Given the description of an element on the screen output the (x, y) to click on. 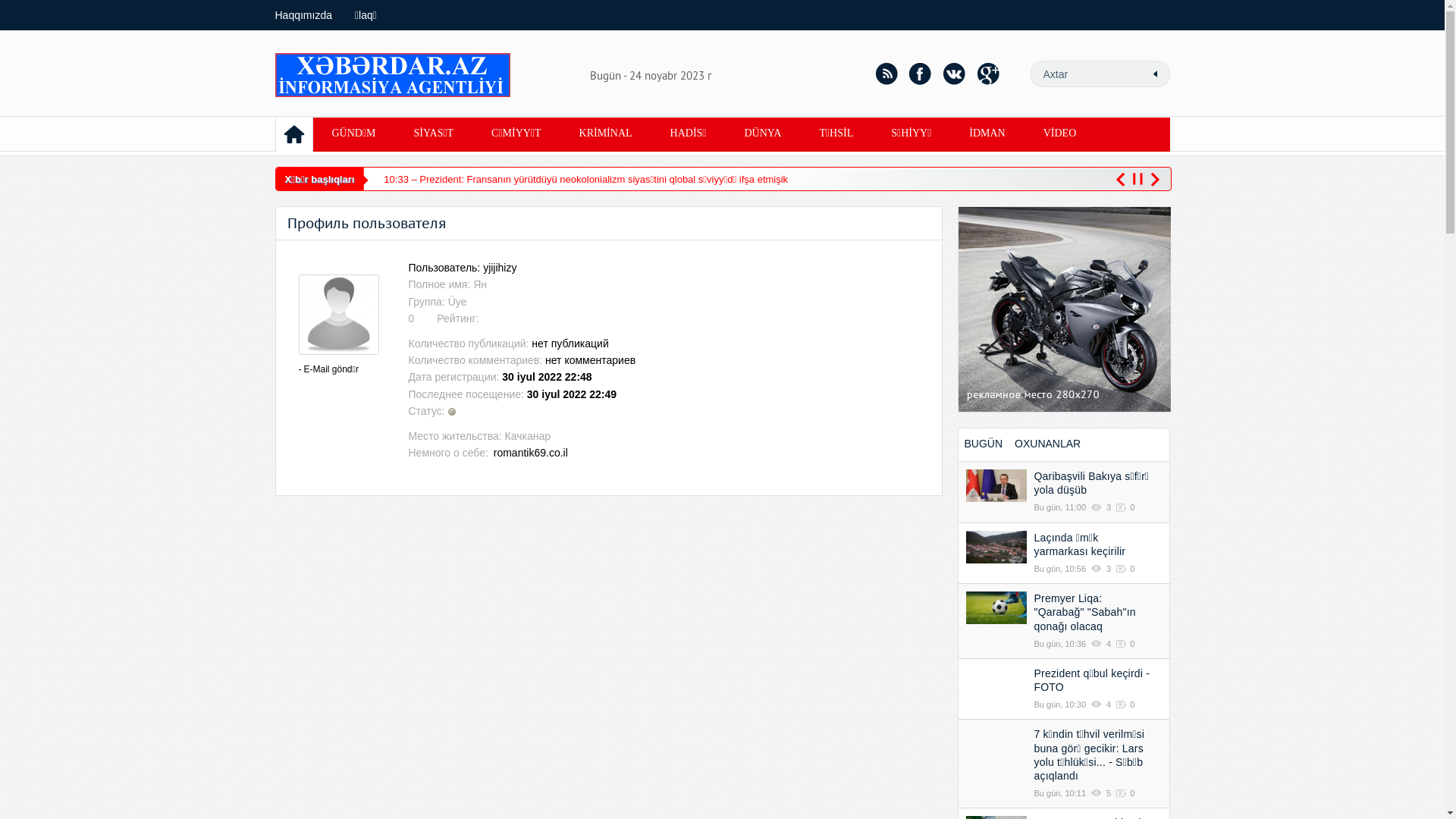
facebook Element type: hover (919, 73)
google+ Element type: hover (987, 73)
romantik69.co.il Element type: text (529, 452)
Axtar Element type: hover (1154, 73)
